Given the description of an element on the screen output the (x, y) to click on. 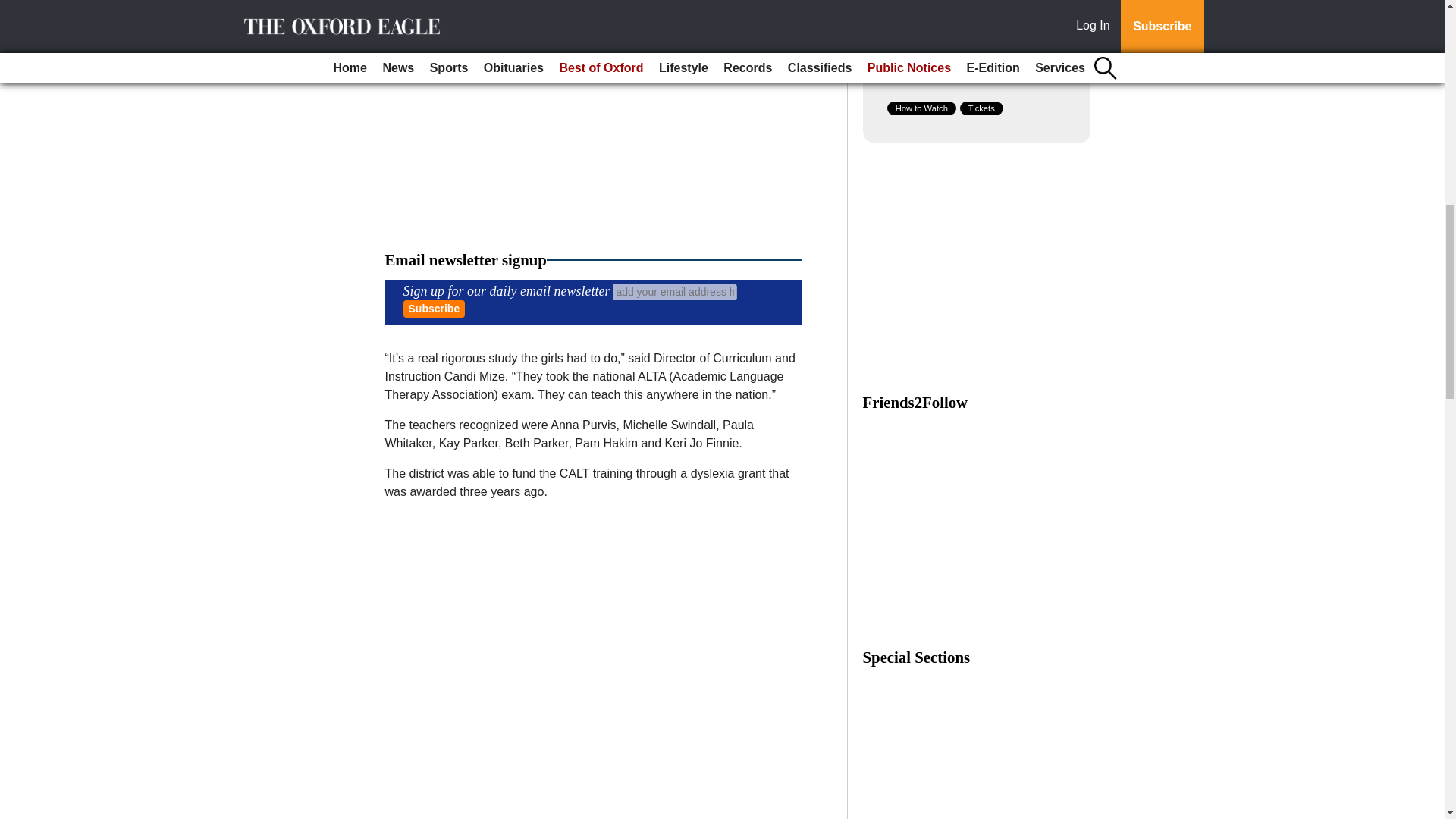
Subscribe (434, 308)
How to Watch (921, 108)
Subscribe (434, 308)
